Given the description of an element on the screen output the (x, y) to click on. 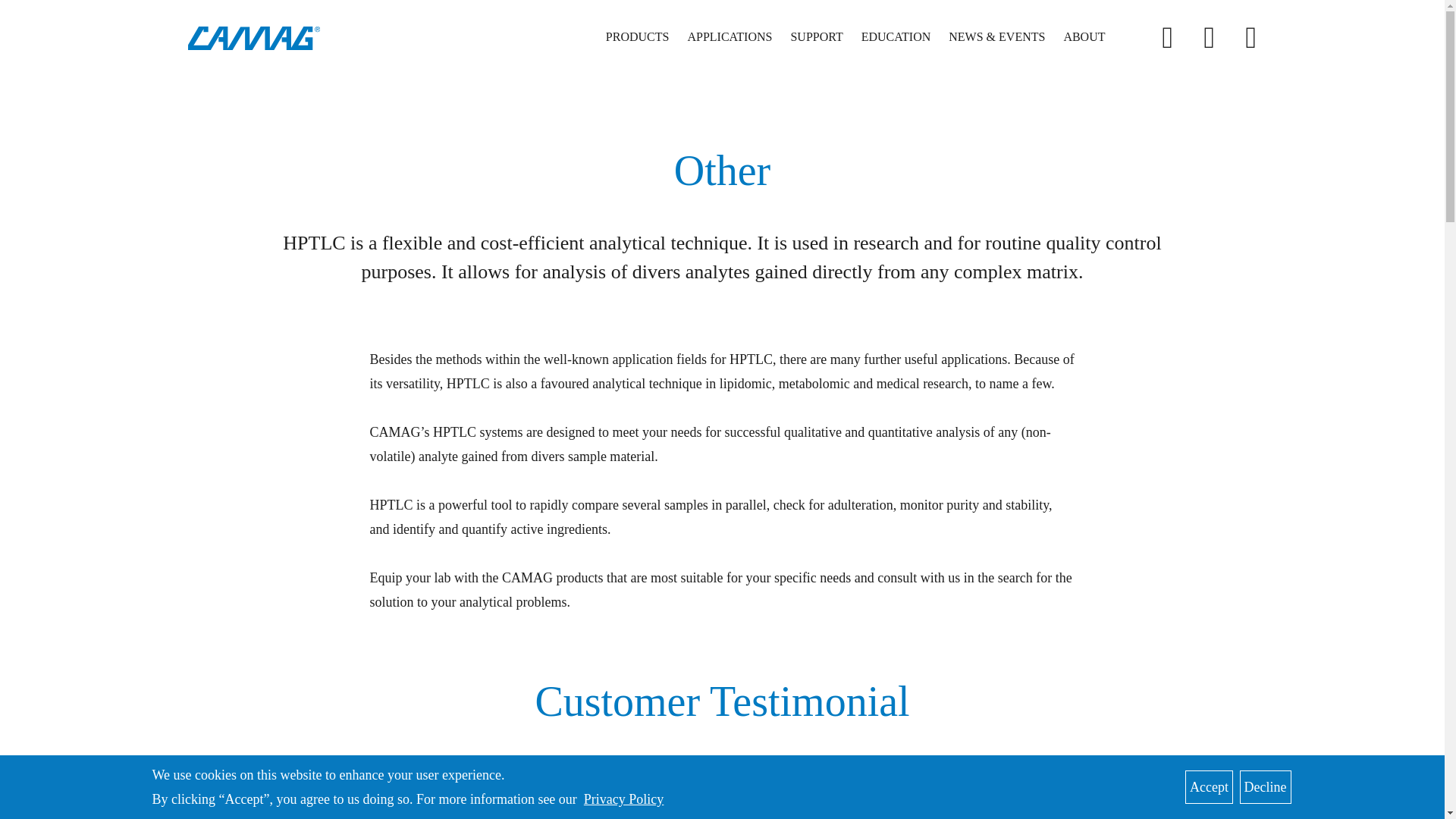
APPLICATIONS (729, 36)
Home (259, 38)
SUPPORT (816, 36)
PRODUCTS (637, 36)
